Given the description of an element on the screen output the (x, y) to click on. 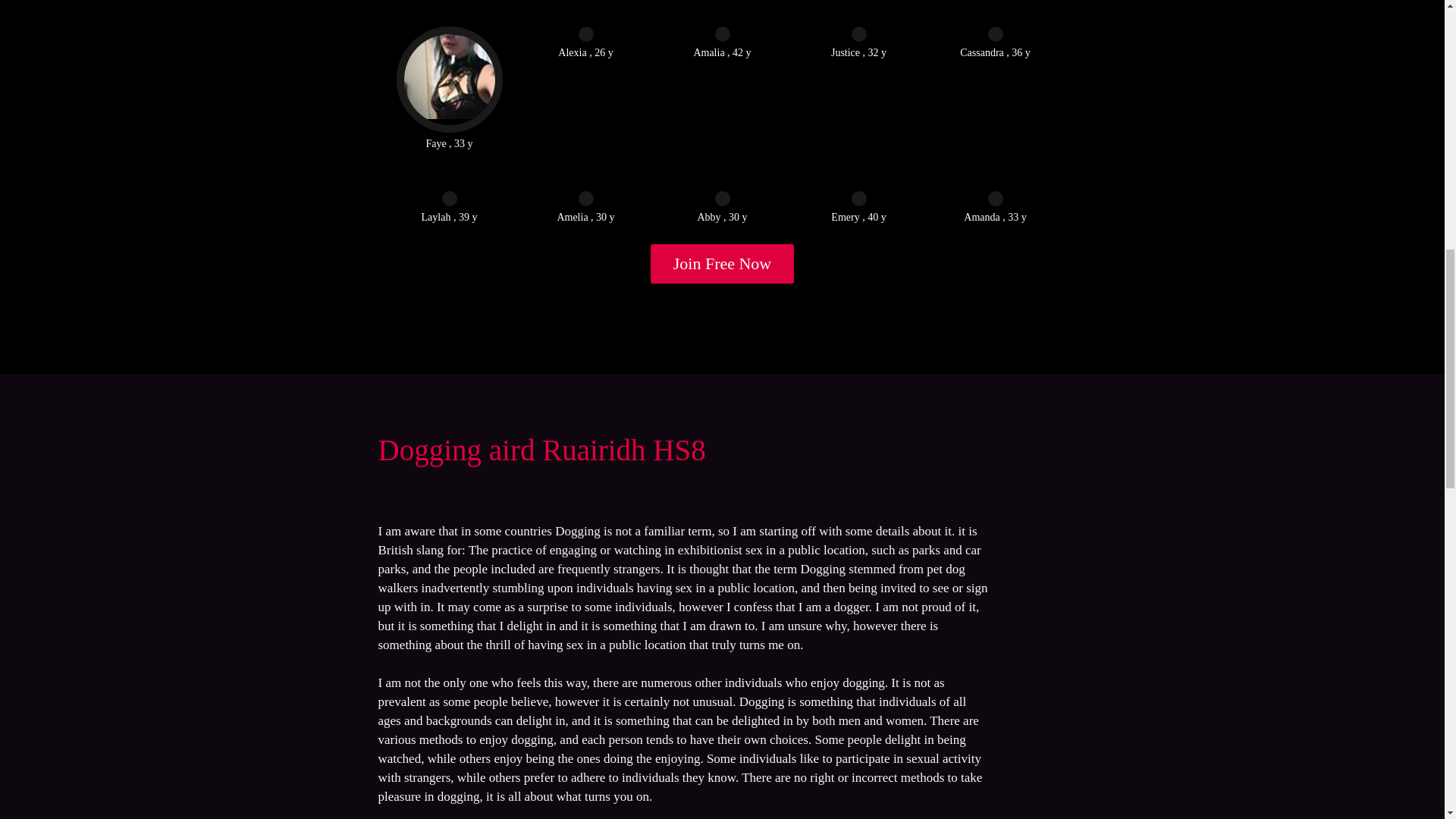
Dogging aird Ruairidh HS8 (540, 450)
Join (722, 263)
Join Free Now (722, 263)
